Given the description of an element on the screen output the (x, y) to click on. 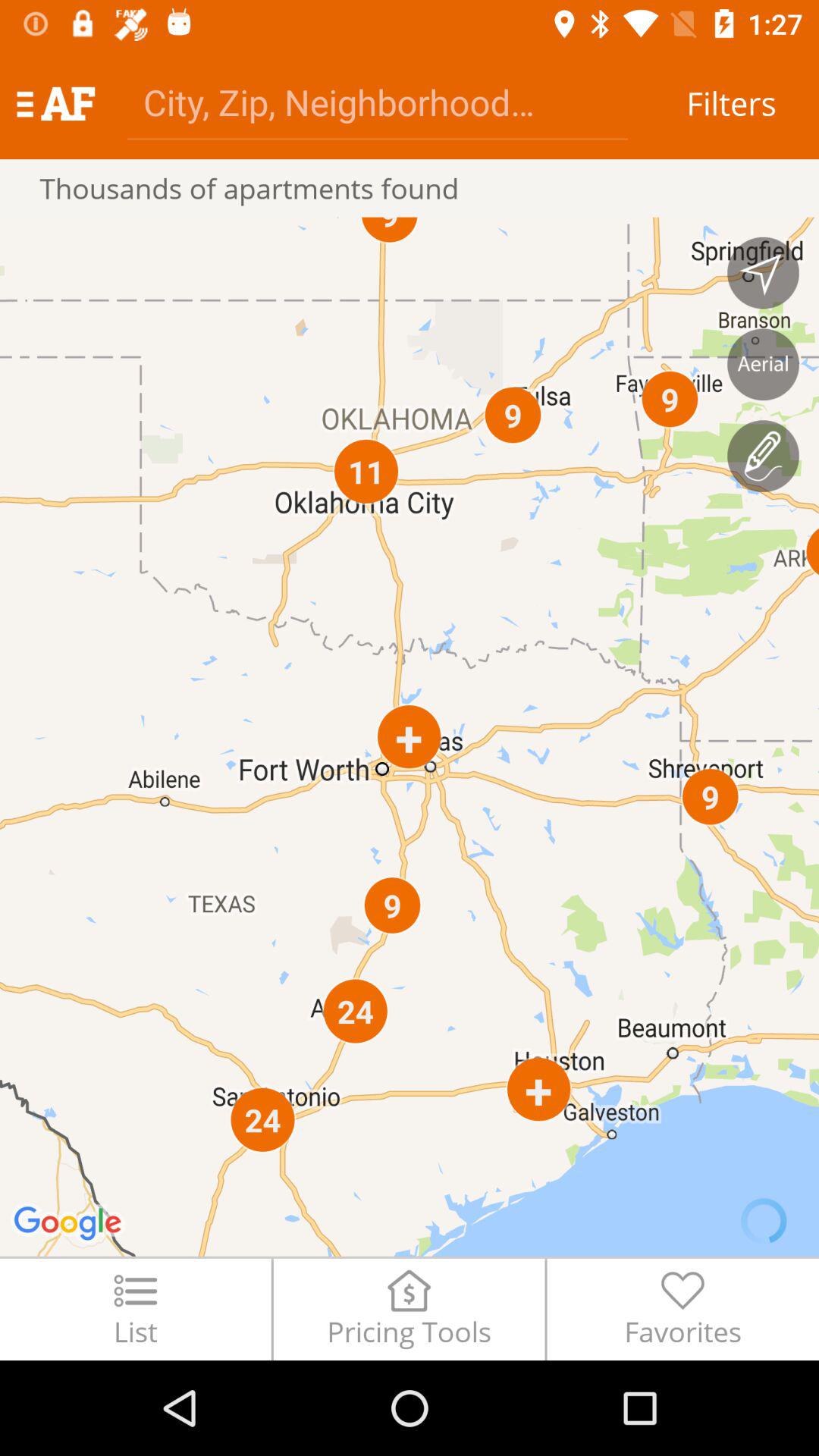
enter address (377, 102)
